Given the description of an element on the screen output the (x, y) to click on. 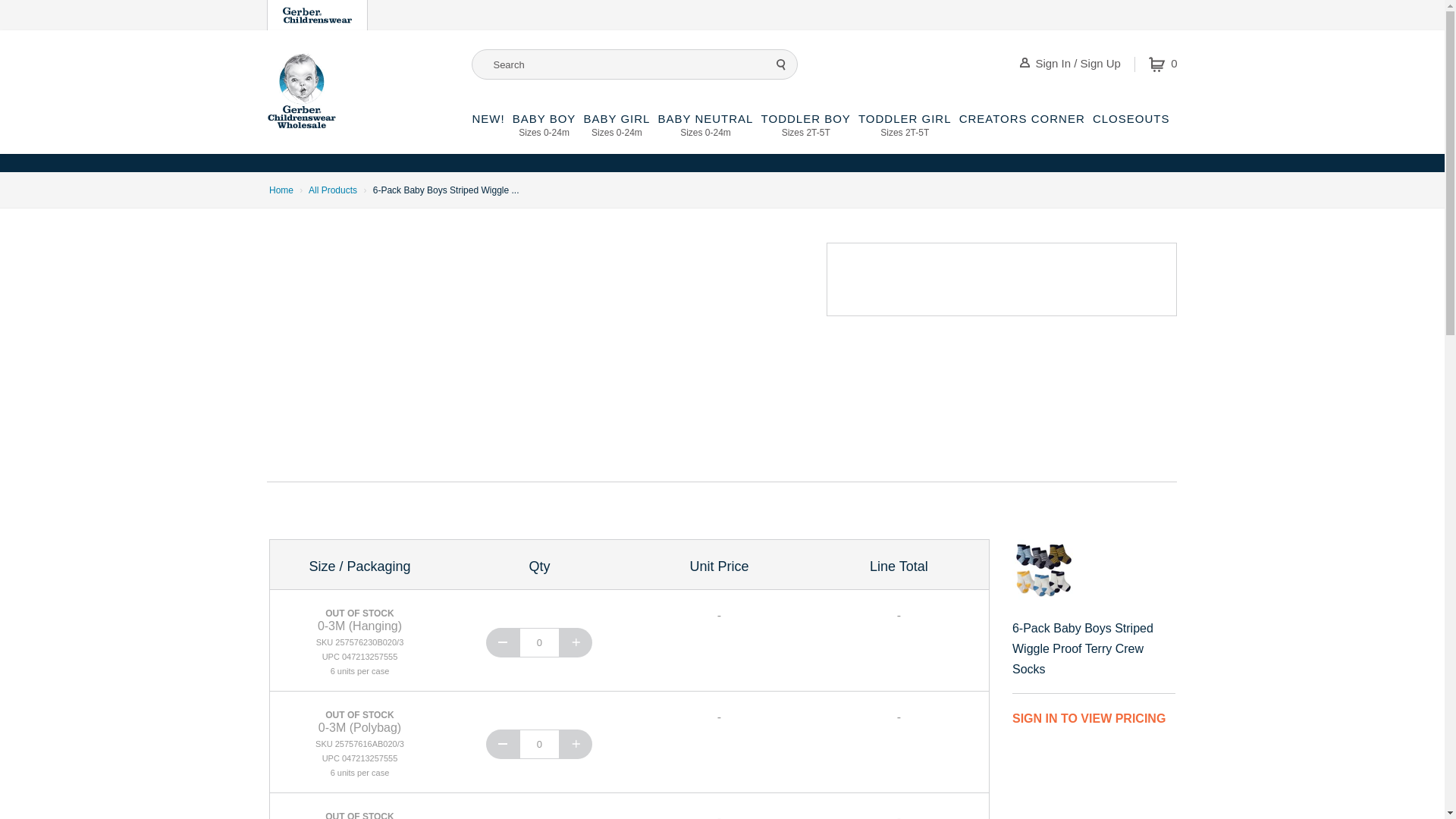
Home (1162, 64)
Gerber Childrenswear (281, 190)
0 (316, 15)
Search (544, 132)
0 (539, 642)
